Given the description of an element on the screen output the (x, y) to click on. 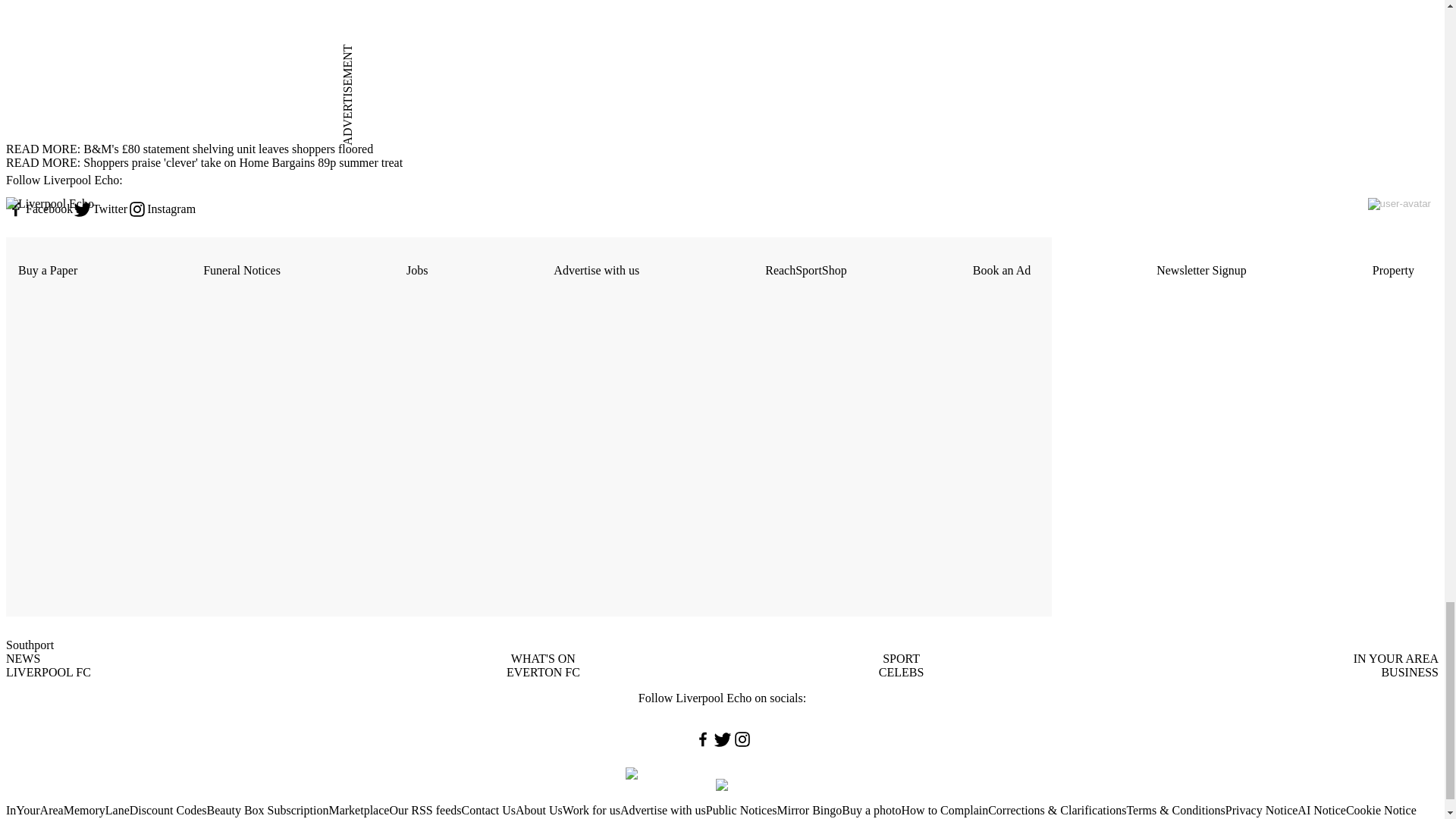
Instagram (161, 209)
Facebook (38, 209)
Twitter (100, 209)
